Given the description of an element on the screen output the (x, y) to click on. 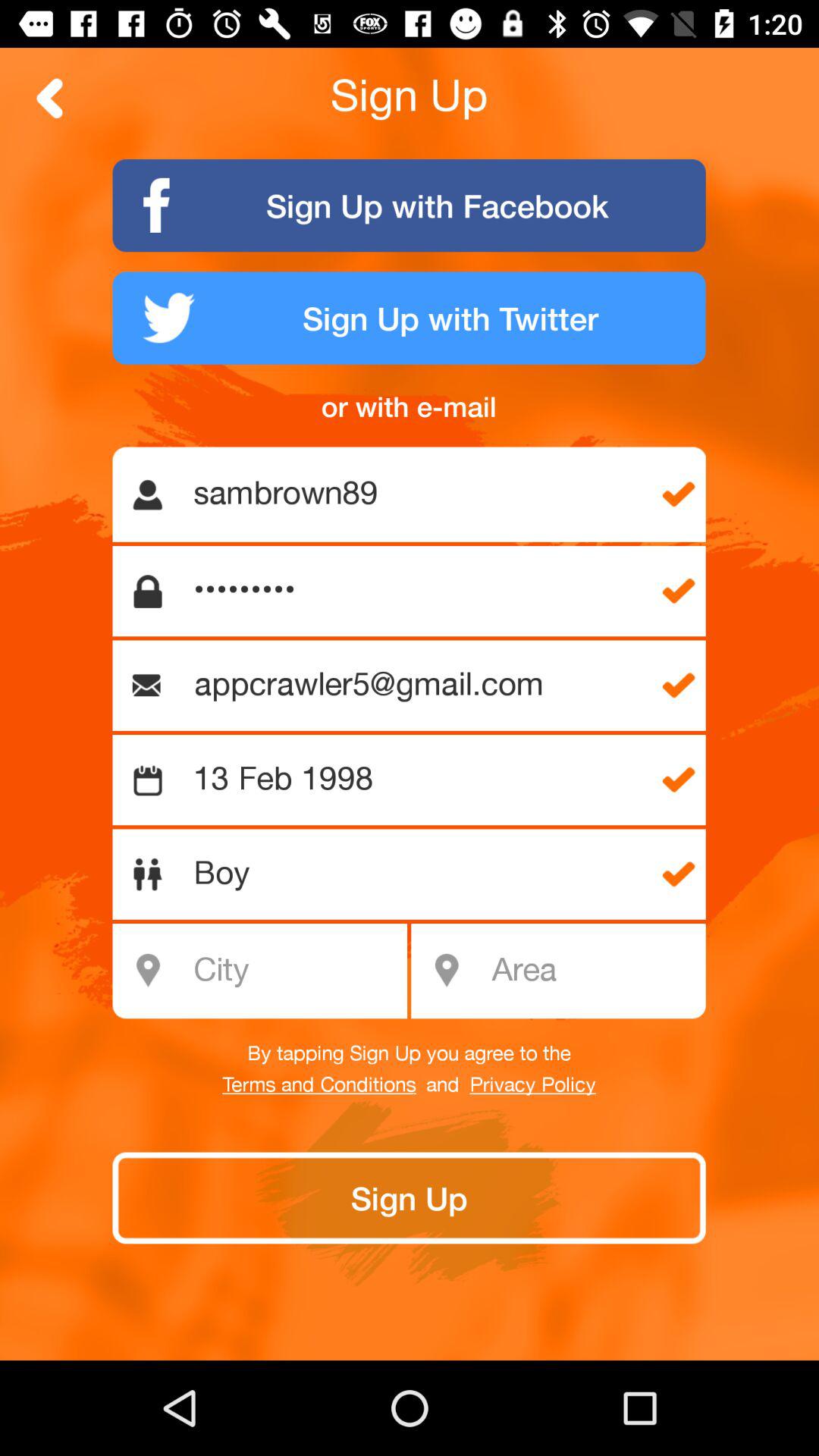
launch terms and conditions item (319, 1085)
